Given the description of an element on the screen output the (x, y) to click on. 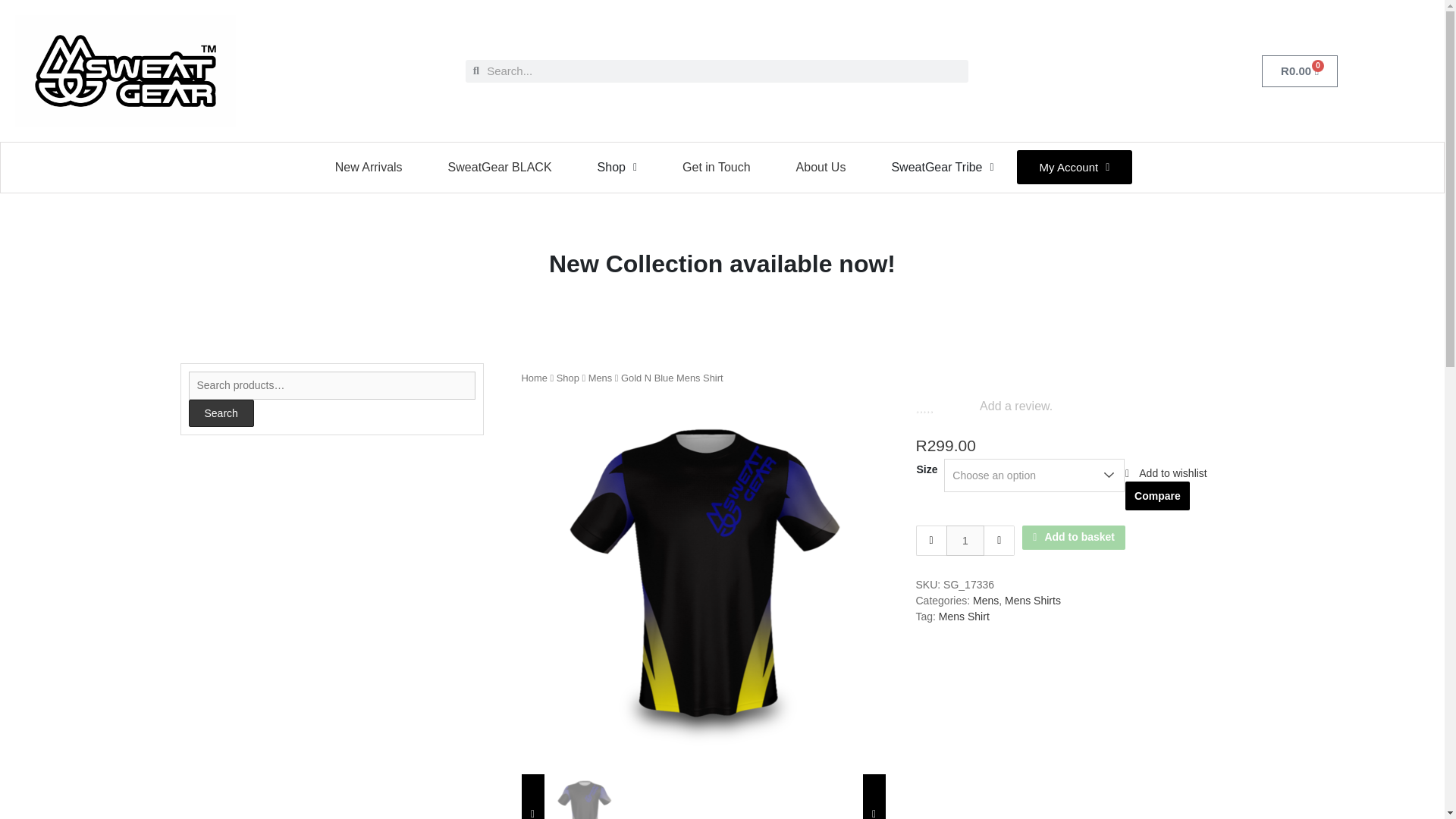
Qty (965, 540)
Gold-N-Blue-Mens-T-Shirt-copy.png (1300, 70)
New Arrivals (583, 796)
Gold-N-Blue-Mens-T-Shirt-copy.png (369, 167)
SweatGear BLACK (703, 576)
1 (500, 167)
Shop (965, 540)
